Given the description of an element on the screen output the (x, y) to click on. 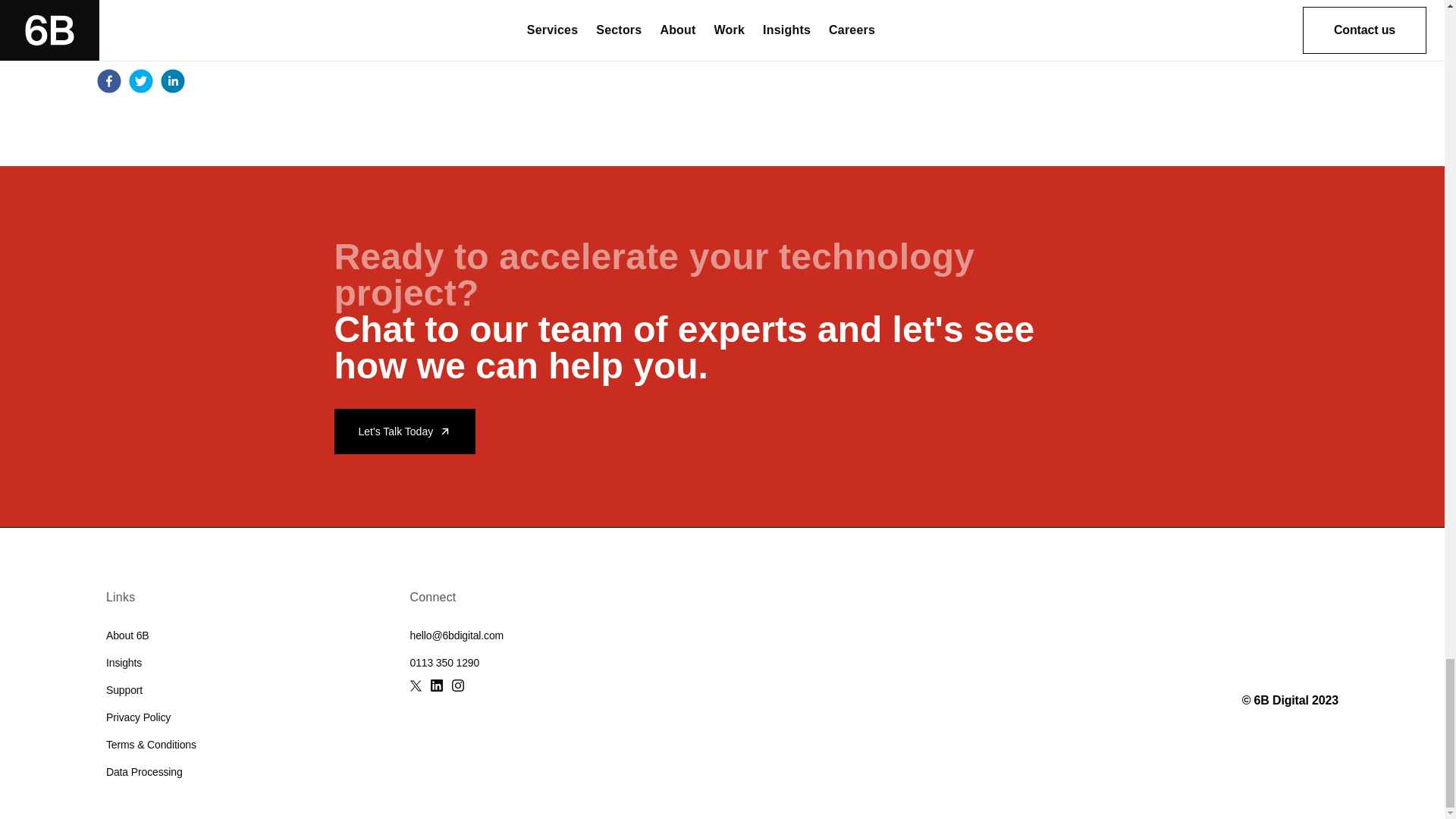
Let's Talk Today (404, 431)
Privacy Policy (138, 716)
Data Processing (144, 771)
About 6B (127, 635)
Insights (123, 662)
Support (124, 689)
0113 350 1290 (444, 662)
